Given the description of an element on the screen output the (x, y) to click on. 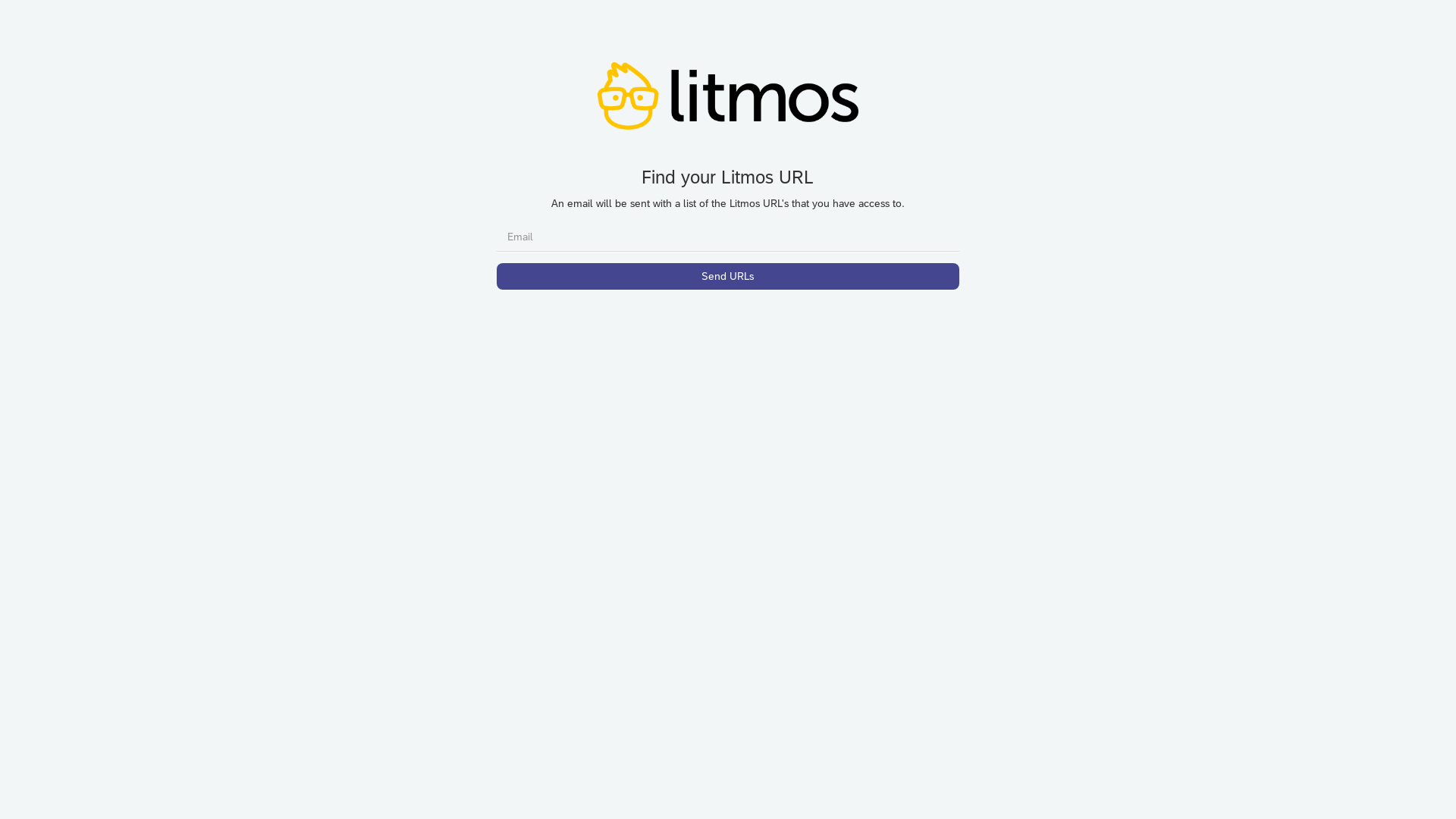
 Send URLs  Element type: text (727, 276)
